Given the description of an element on the screen output the (x, y) to click on. 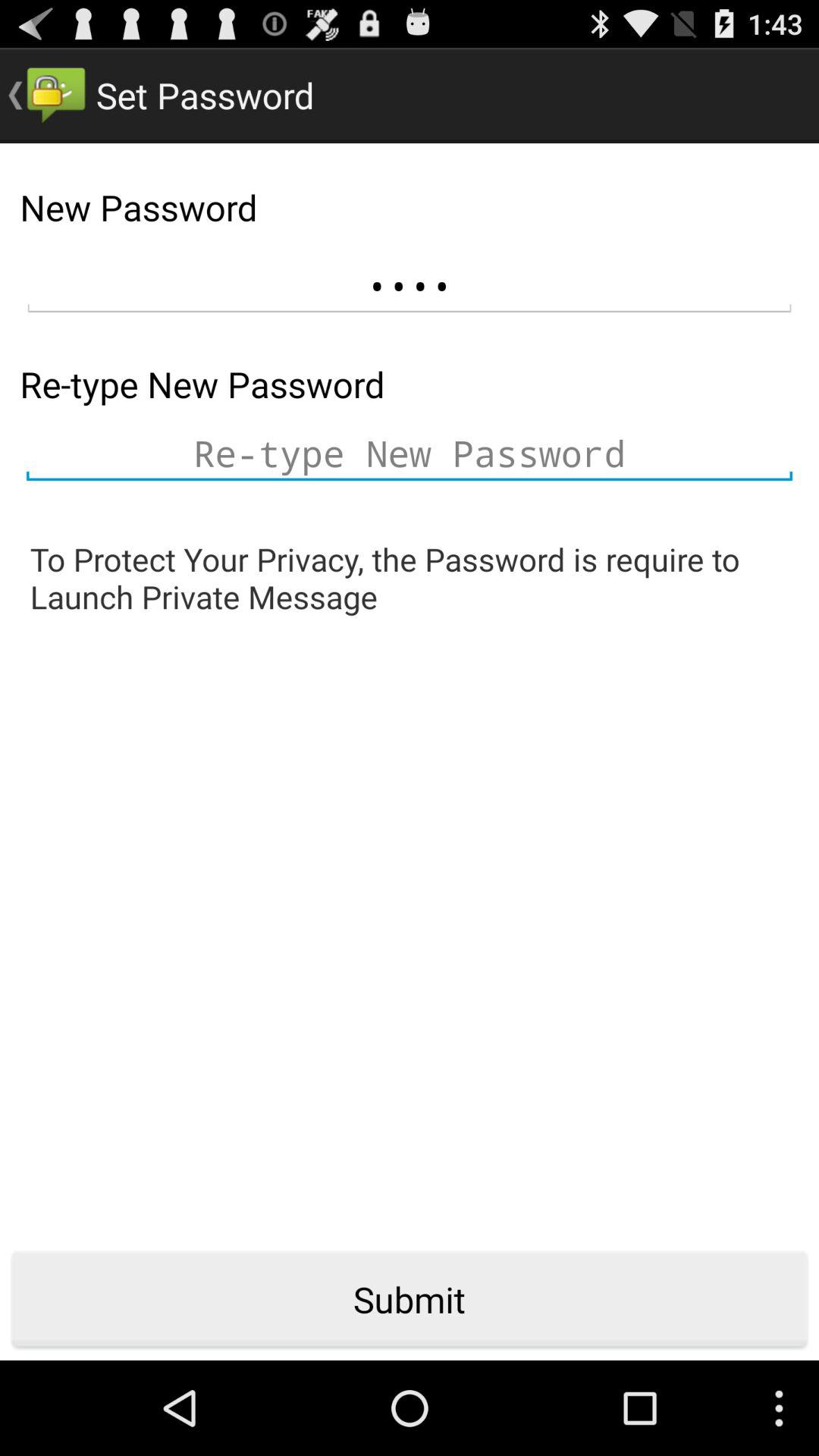
type password again (409, 452)
